Given the description of an element on the screen output the (x, y) to click on. 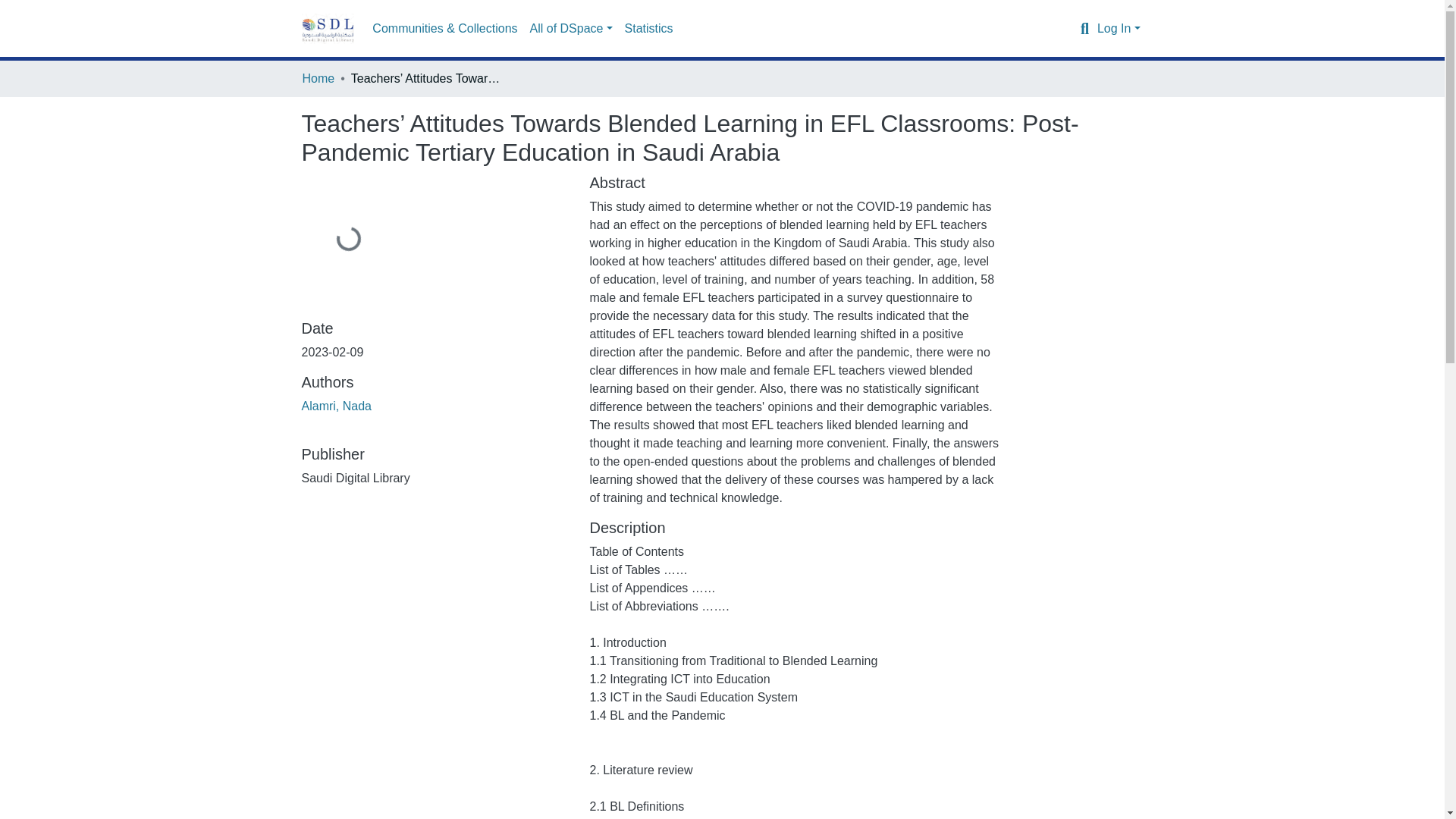
Home (317, 78)
All of DSpace (571, 28)
Search (1084, 28)
Statistics (648, 28)
Alamri, Nada (336, 405)
Statistics (648, 28)
Log In (1118, 28)
